Given the description of an element on the screen output the (x, y) to click on. 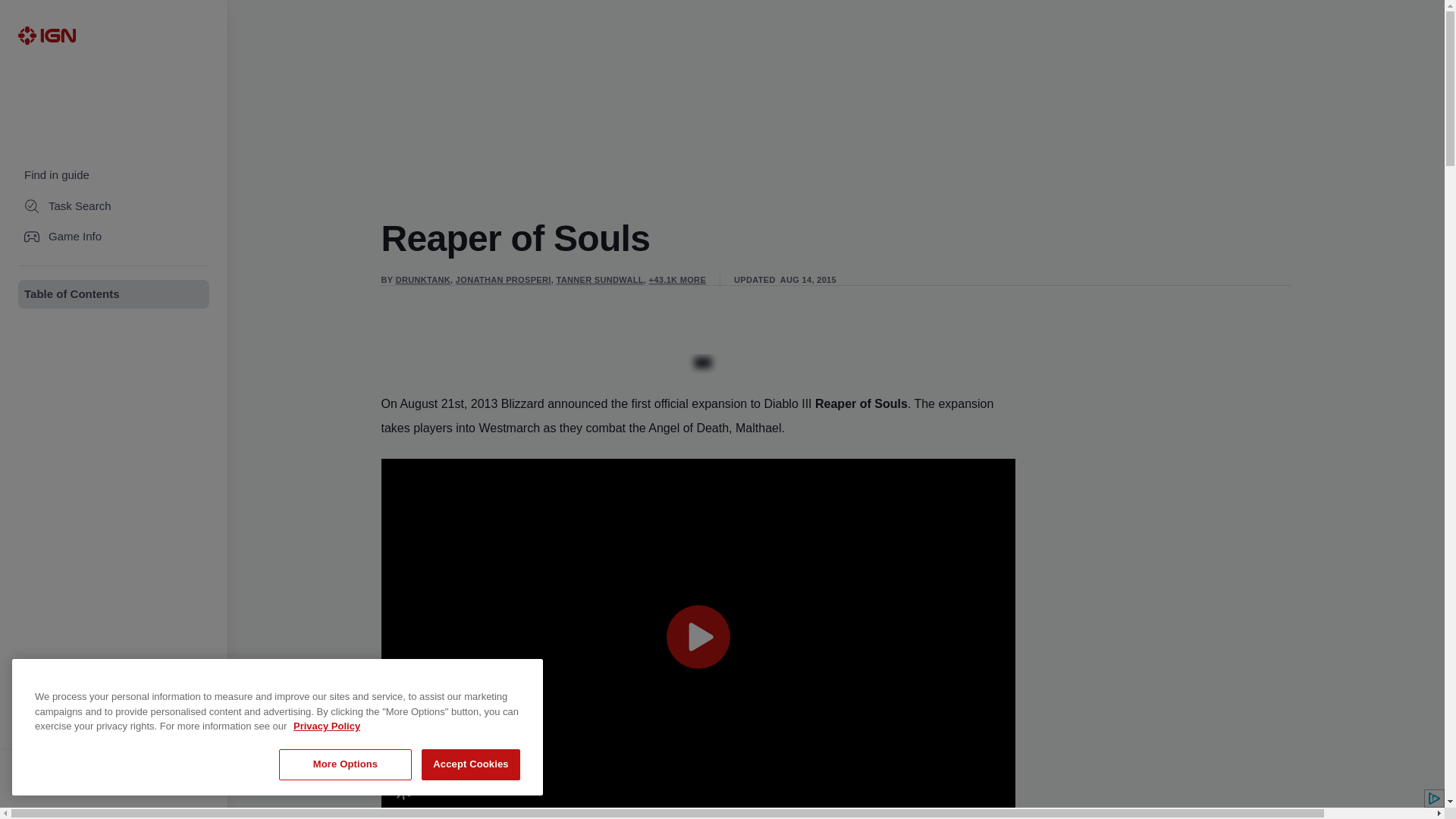
Task Search (113, 206)
Game Info (113, 236)
Game Info (113, 236)
Table of Contents (113, 294)
Find in guide (113, 175)
IGN Logo (46, 34)
Task Search (113, 206)
IGN Logo (46, 35)
Find in guide (113, 175)
IGN (46, 35)
